Given the description of an element on the screen output the (x, y) to click on. 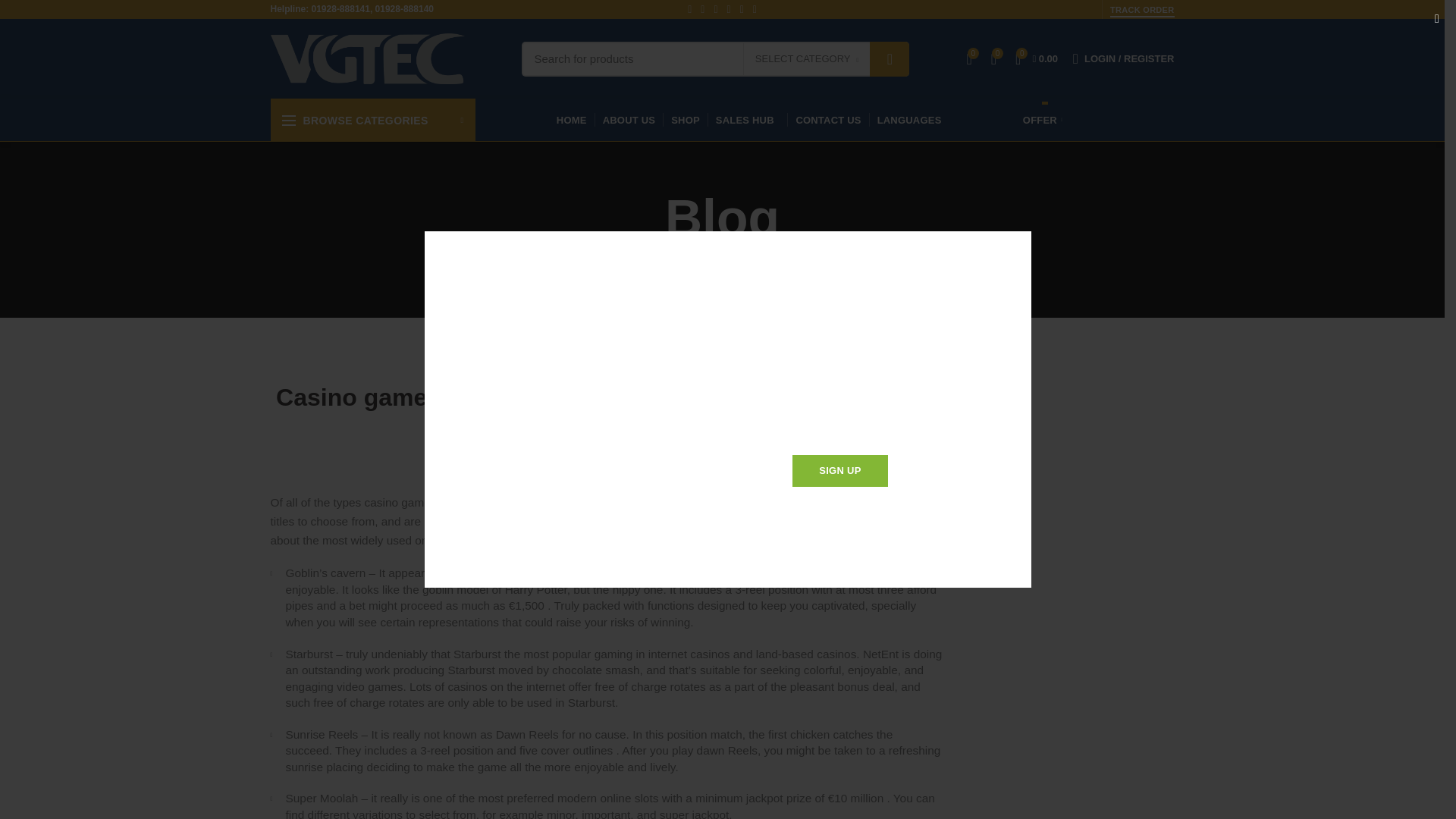
SELECT CATEGORY (807, 59)
Privacy Policy (812, 510)
SELECT CATEGORY (806, 58)
TRACK ORDER (1141, 10)
My account (1122, 59)
Sign up (840, 470)
Sign up (840, 470)
Shopping cart (1036, 59)
